Given the description of an element on the screen output the (x, y) to click on. 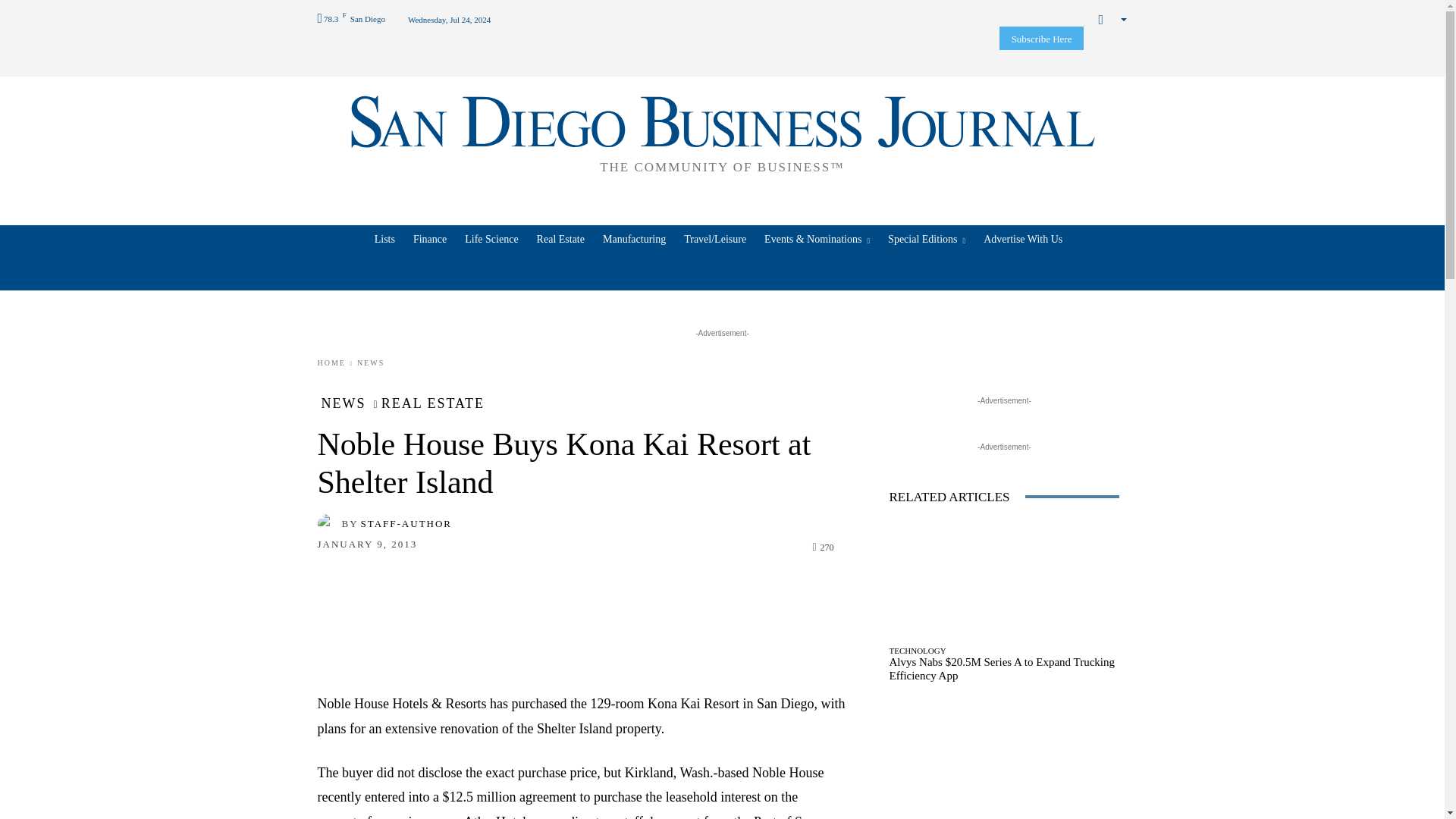
San Diego Business Journal Logo (721, 132)
